Given the description of an element on the screen output the (x, y) to click on. 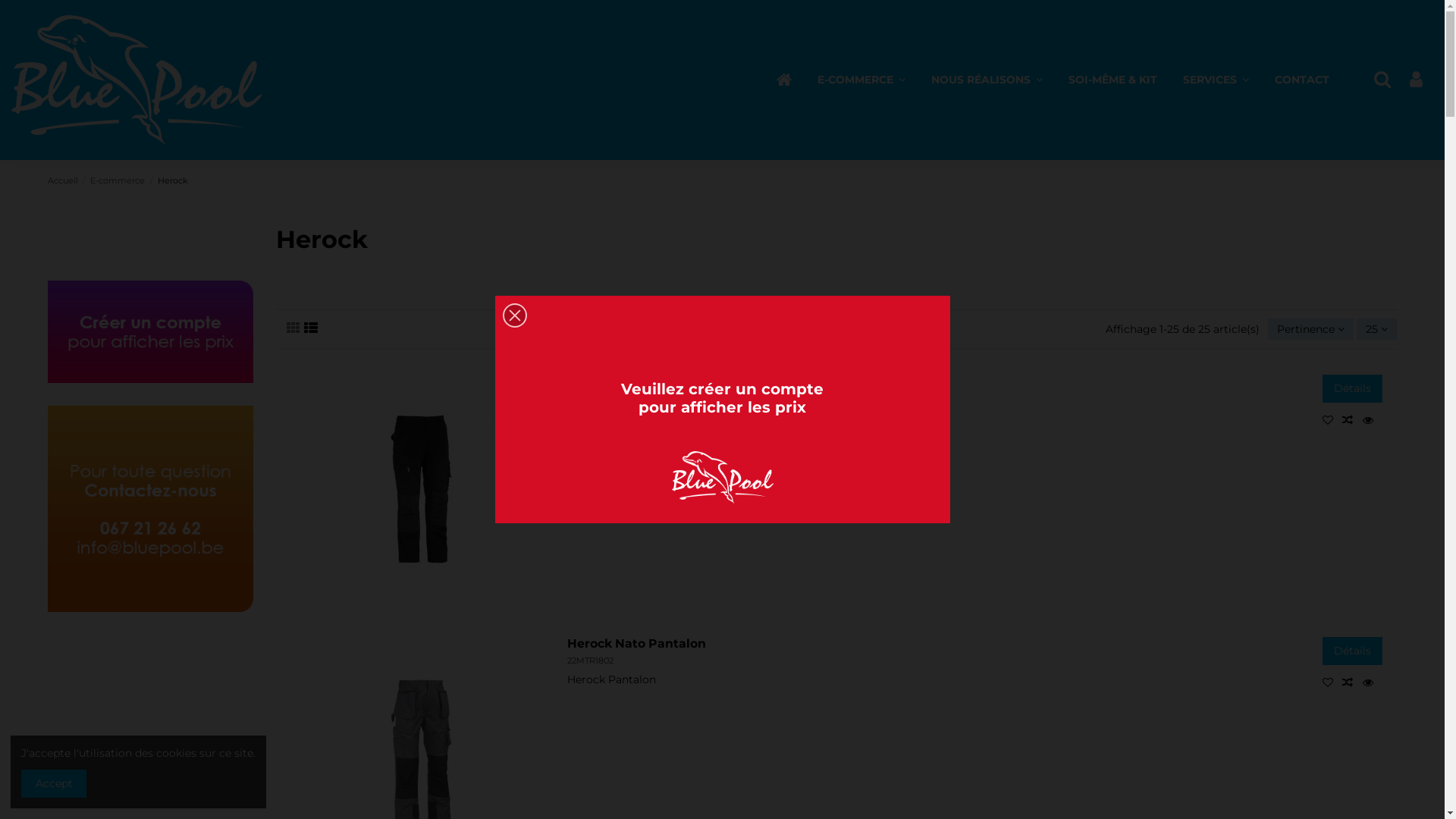
Identifiez-vous Element type: hover (1415, 79)
Accept Element type: text (53, 783)
Add to wishlist Element type: hover (1332, 419)
Pertinence Element type: text (1310, 329)
Compare Element type: hover (1351, 419)
CONTACT Element type: text (1301, 79)
E-COMMERCE Element type: text (861, 79)
Accueil Element type: text (63, 180)
Herock Nato Pantalon Element type: text (636, 643)
25 Element type: text (1376, 329)
Add to wishlist Element type: hover (1332, 682)
Compare Element type: hover (1351, 682)
Herock Hector Pantalon Element type: text (642, 380)
E-commerce Element type: text (118, 180)
SERVICES Element type: text (1215, 79)
